Given the description of an element on the screen output the (x, y) to click on. 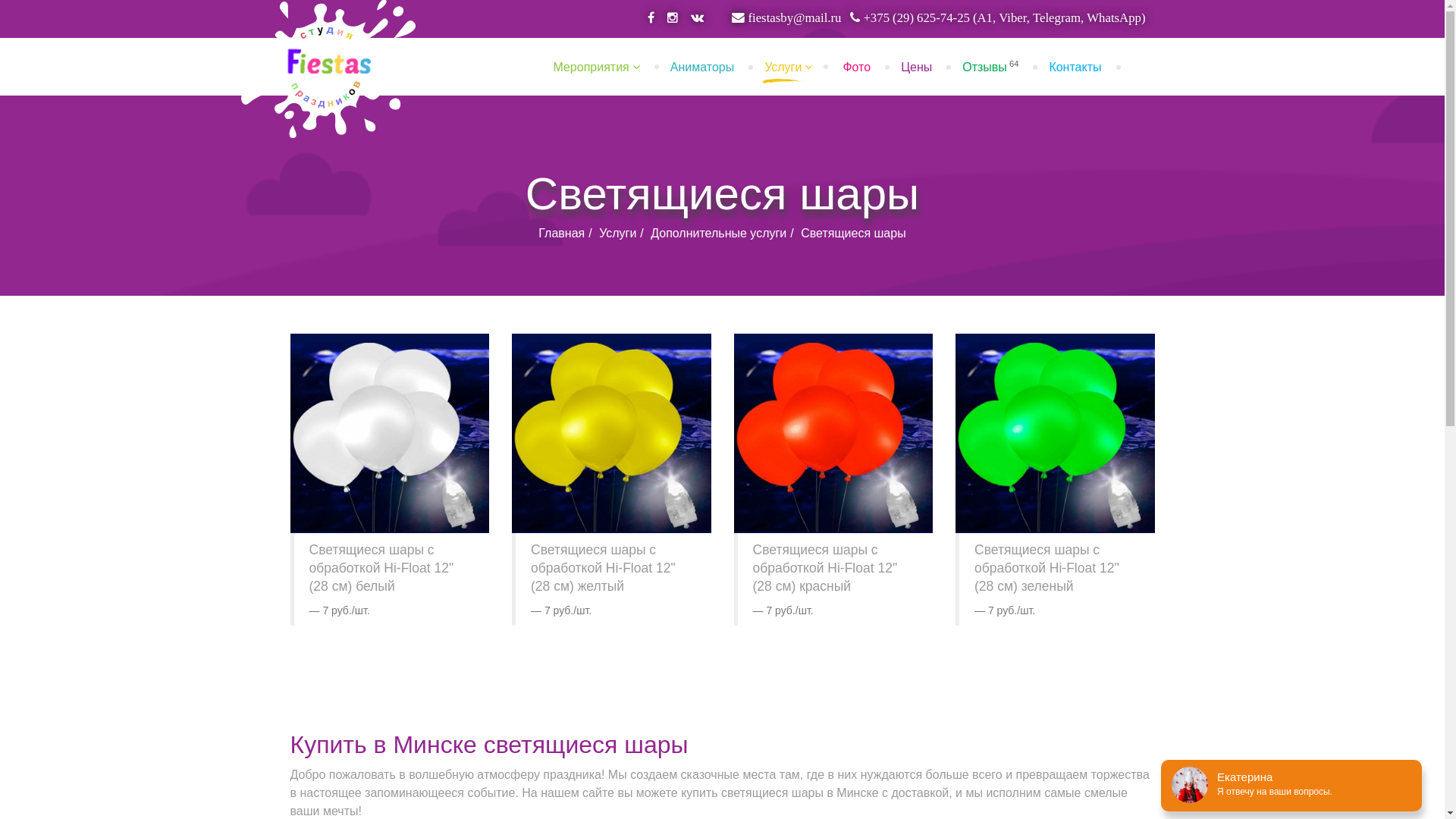
fiestasby@mail.ru Element type: text (785, 17)
